Given the description of an element on the screen output the (x, y) to click on. 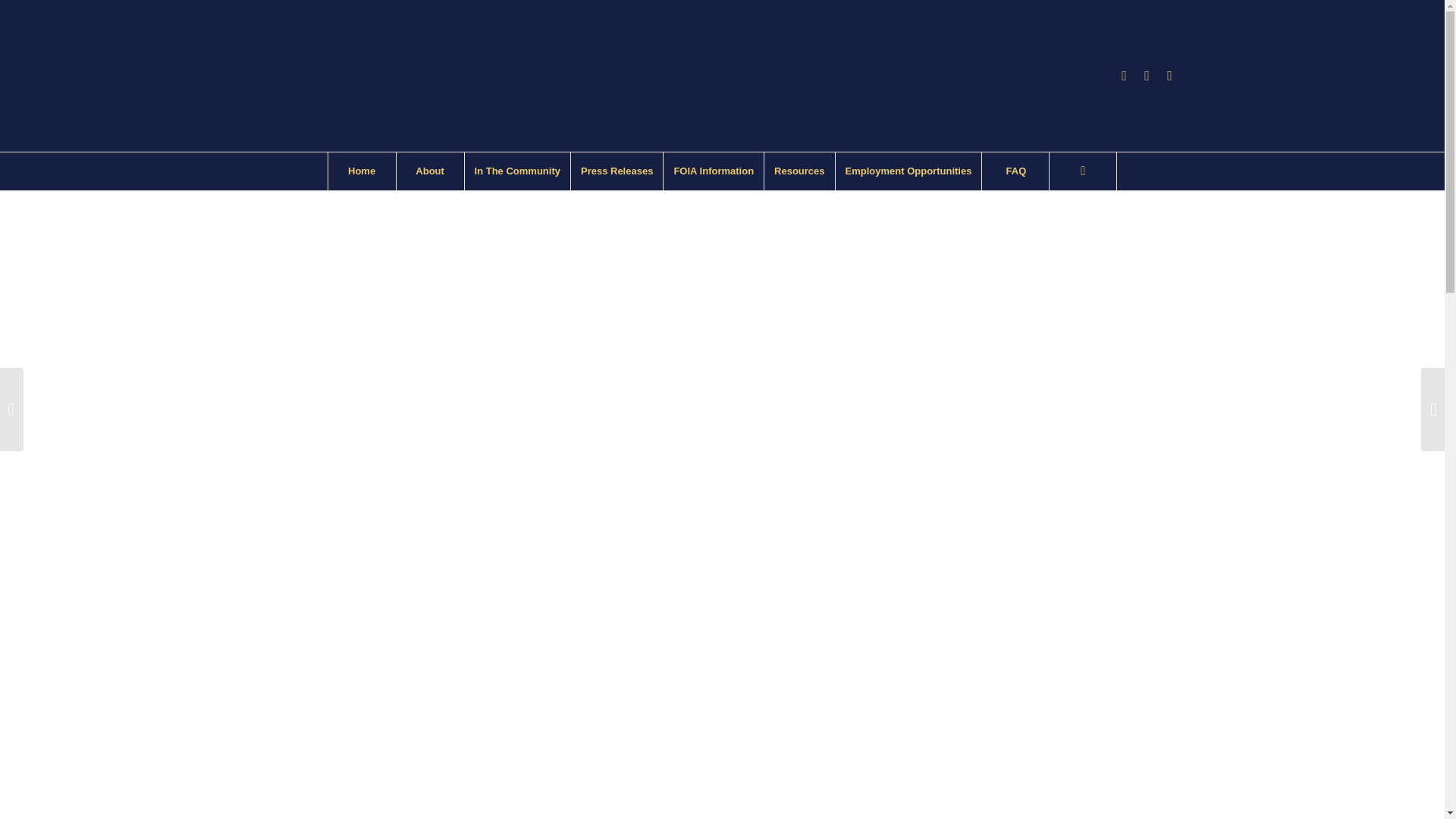
Twitter (1169, 75)
In The Community (517, 171)
Home (361, 171)
About (430, 171)
Instagram (1146, 75)
Facebook (1124, 75)
